Given the description of an element on the screen output the (x, y) to click on. 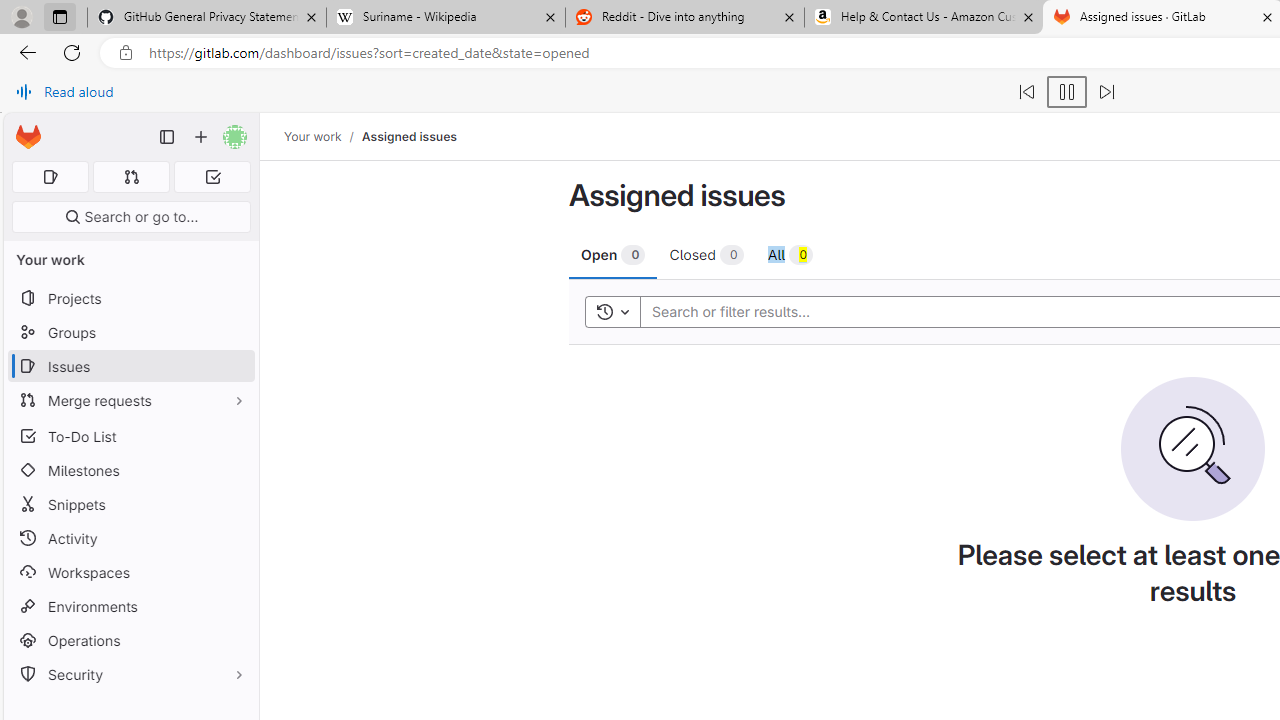
Environments (130, 605)
Assigned issues (408, 136)
To-Do List (130, 435)
Read previous paragraph (1026, 92)
Closed 0 (706, 254)
Groups (130, 332)
Snippets (130, 504)
